Given the description of an element on the screen output the (x, y) to click on. 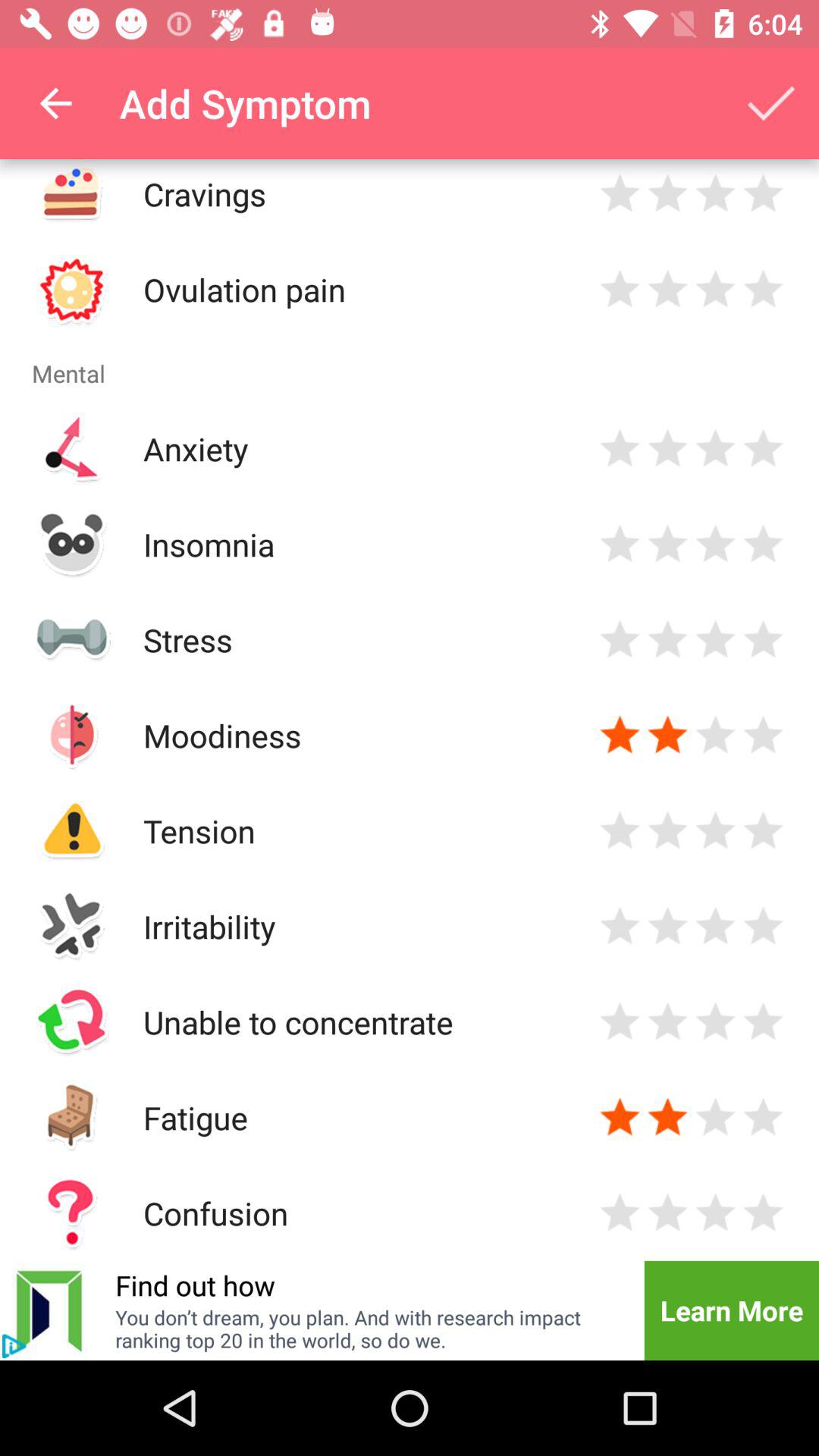
leave 2 star review (667, 289)
